Given the description of an element on the screen output the (x, y) to click on. 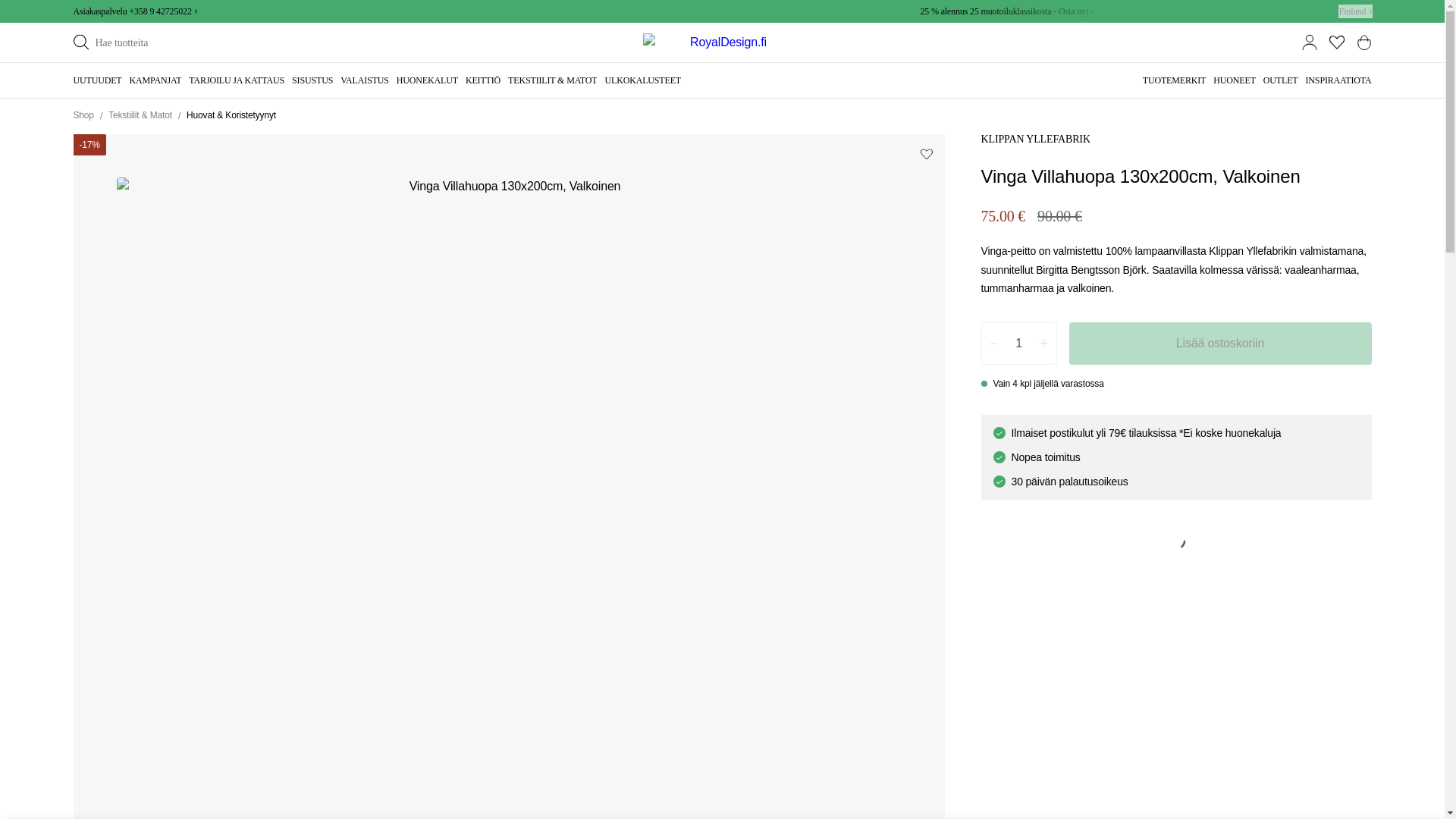
Shop (82, 114)
UUTUUDET (96, 80)
SISUSTUS (312, 80)
KLIPPAN YLLEFABRIK (1035, 139)
Etsi (80, 42)
KAMPANJAT (155, 80)
Finland (1355, 10)
TARJOILU JA KATTAUS (236, 80)
Plus (1043, 343)
